Given the description of an element on the screen output the (x, y) to click on. 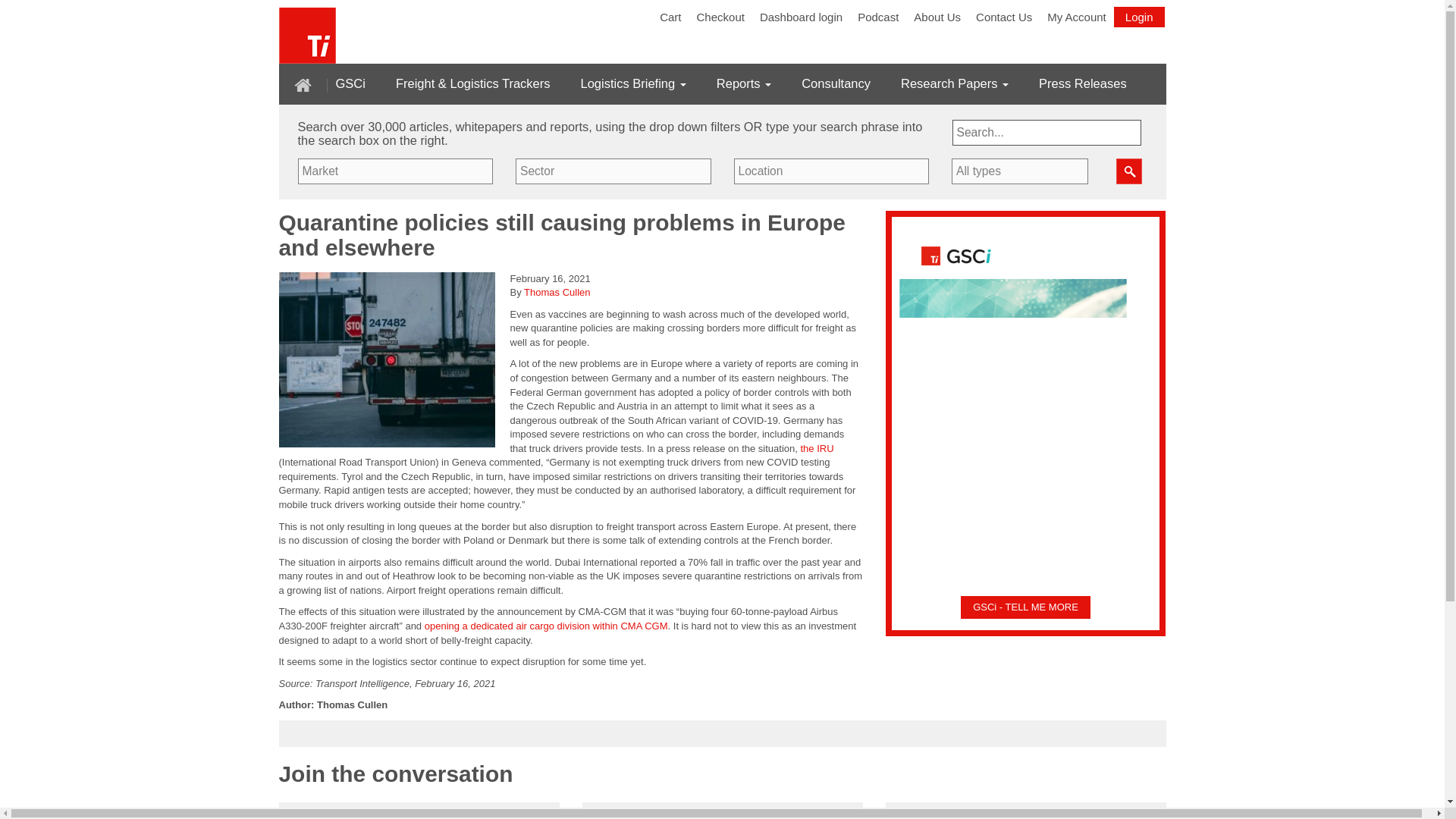
Thomas Cullen (556, 292)
Dashboard login (801, 16)
Logistics Briefing (632, 83)
My Account (1076, 16)
GSCi (349, 83)
Login (1138, 16)
opening a dedicated air cargo division within CMA CGM (546, 625)
Podcast (877, 16)
Reports (743, 83)
Research Papers (955, 83)
